Given the description of an element on the screen output the (x, y) to click on. 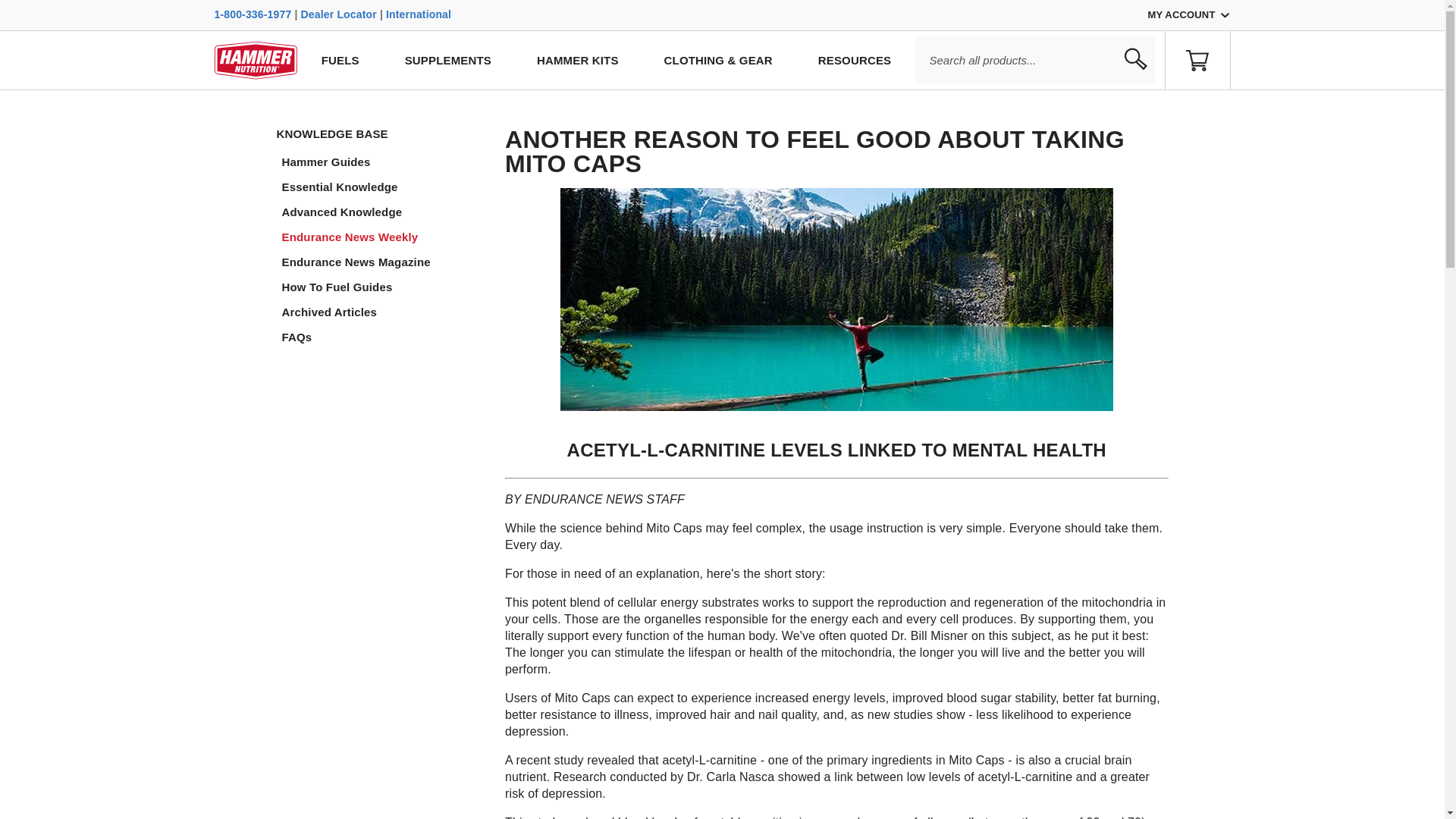
SKIP TO CONTENT (81, 105)
SUPPLEMENTS (447, 60)
Hammer Guides (382, 161)
Dealer Locator (339, 14)
FUELS (339, 60)
MY ACCOUNT (1189, 14)
Site Logo (255, 59)
tel:1-800-336-1977 (252, 14)
1-800-336-1977 (252, 14)
KNOWLEDGE BASE (378, 133)
